Given the description of an element on the screen output the (x, y) to click on. 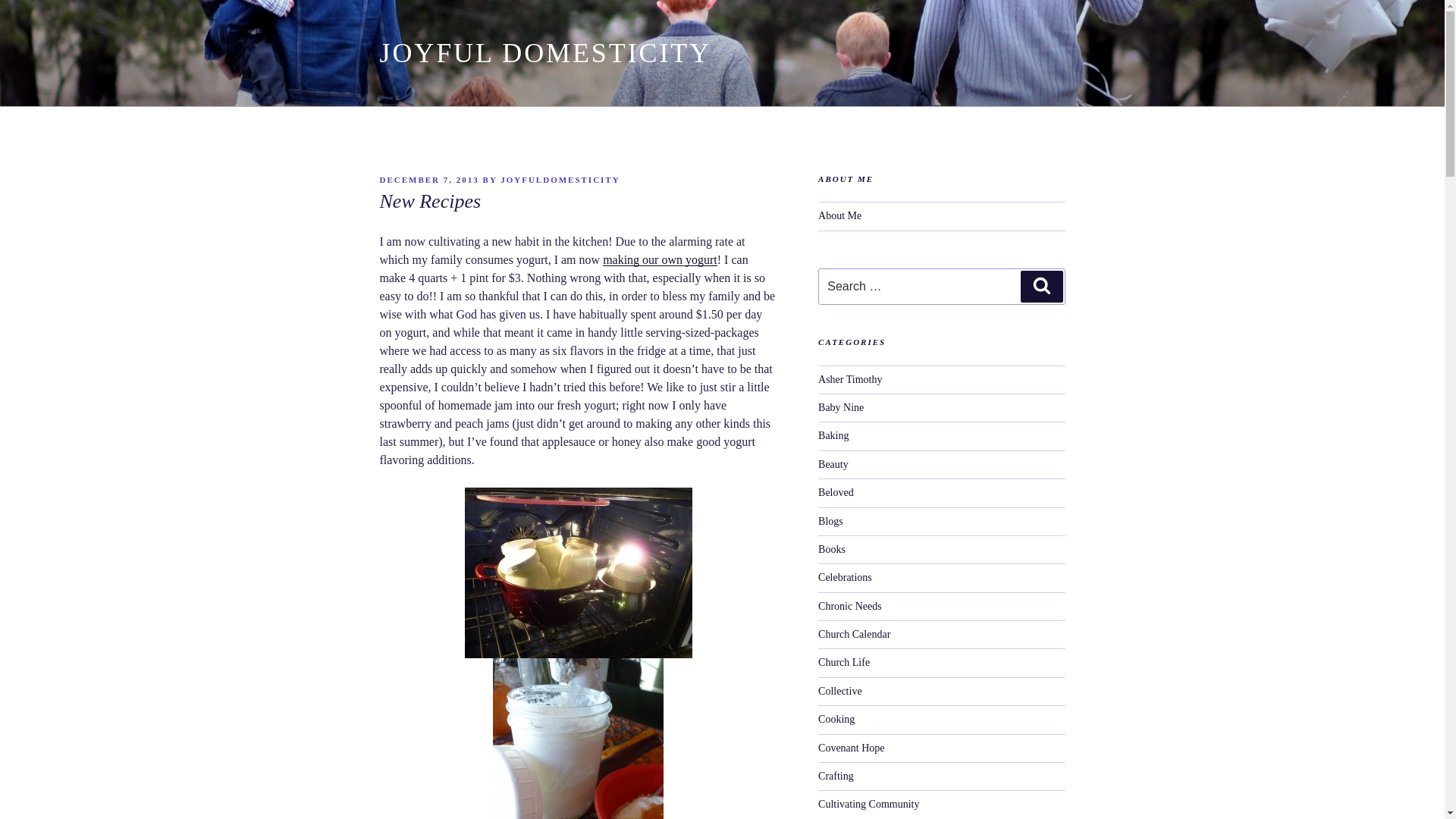
Books (831, 549)
Search (1041, 286)
Baking (833, 435)
DECEMBER 7, 2013 (428, 179)
Church Calendar (853, 633)
Beloved (835, 491)
Beauty (833, 464)
JOYFULDOMESTICITY (560, 179)
Baby Nine (840, 407)
Celebrations (845, 577)
